Given the description of an element on the screen output the (x, y) to click on. 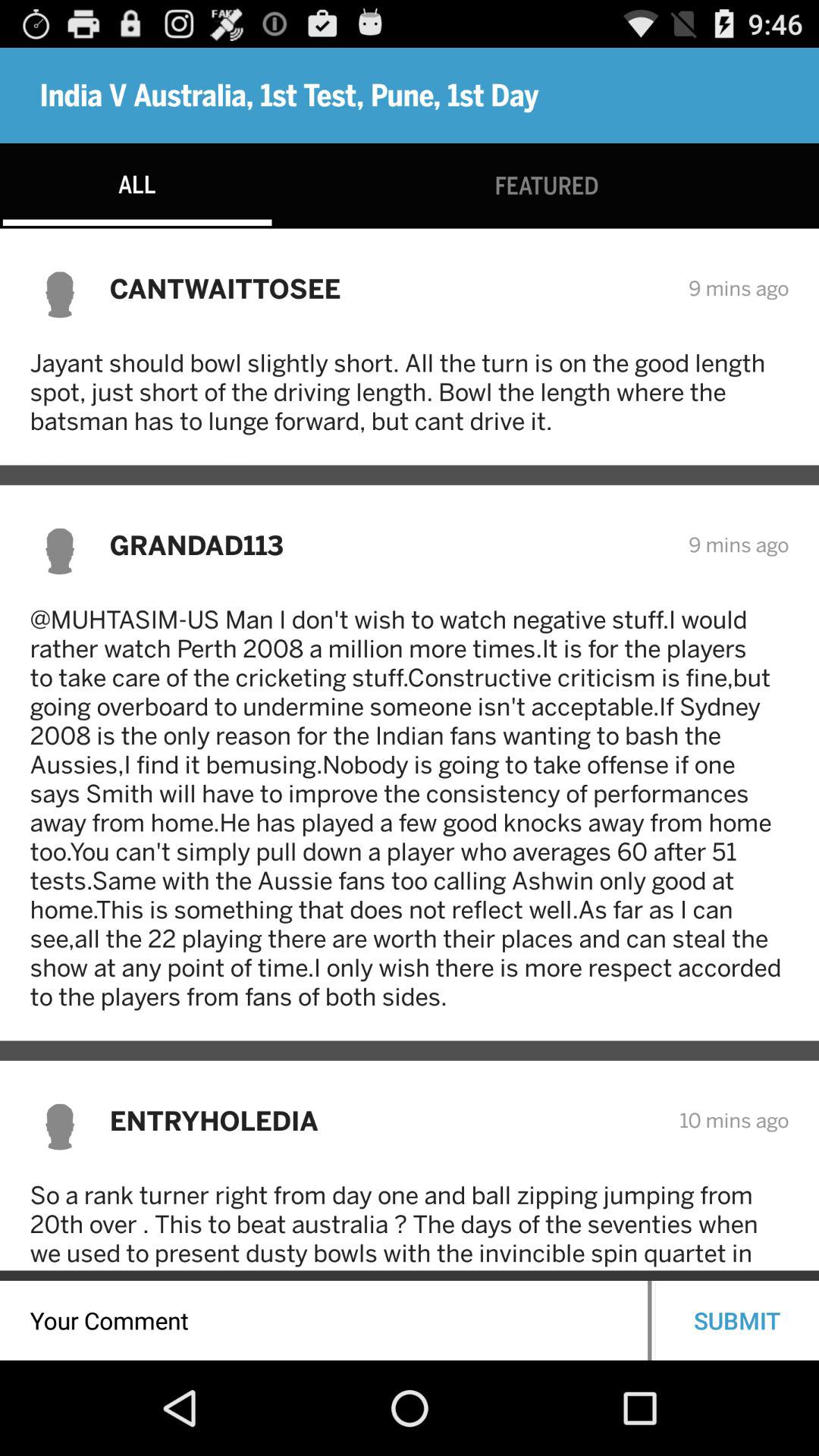
comment text box (323, 1320)
